Given the description of an element on the screen output the (x, y) to click on. 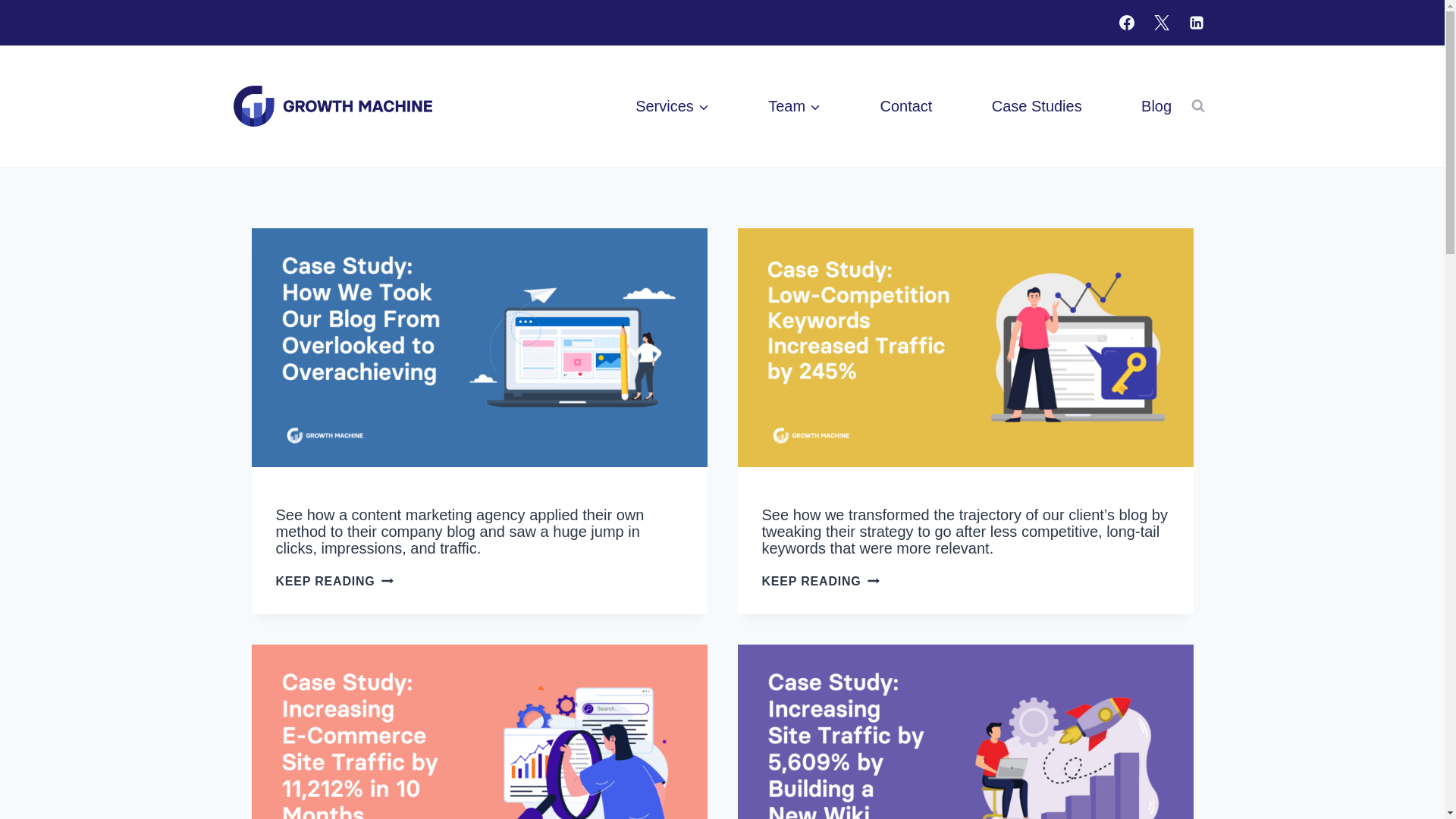
Contact (906, 105)
Case Studies (1036, 105)
Blog (1156, 105)
Team (793, 105)
Services (671, 105)
